Given the description of an element on the screen output the (x, y) to click on. 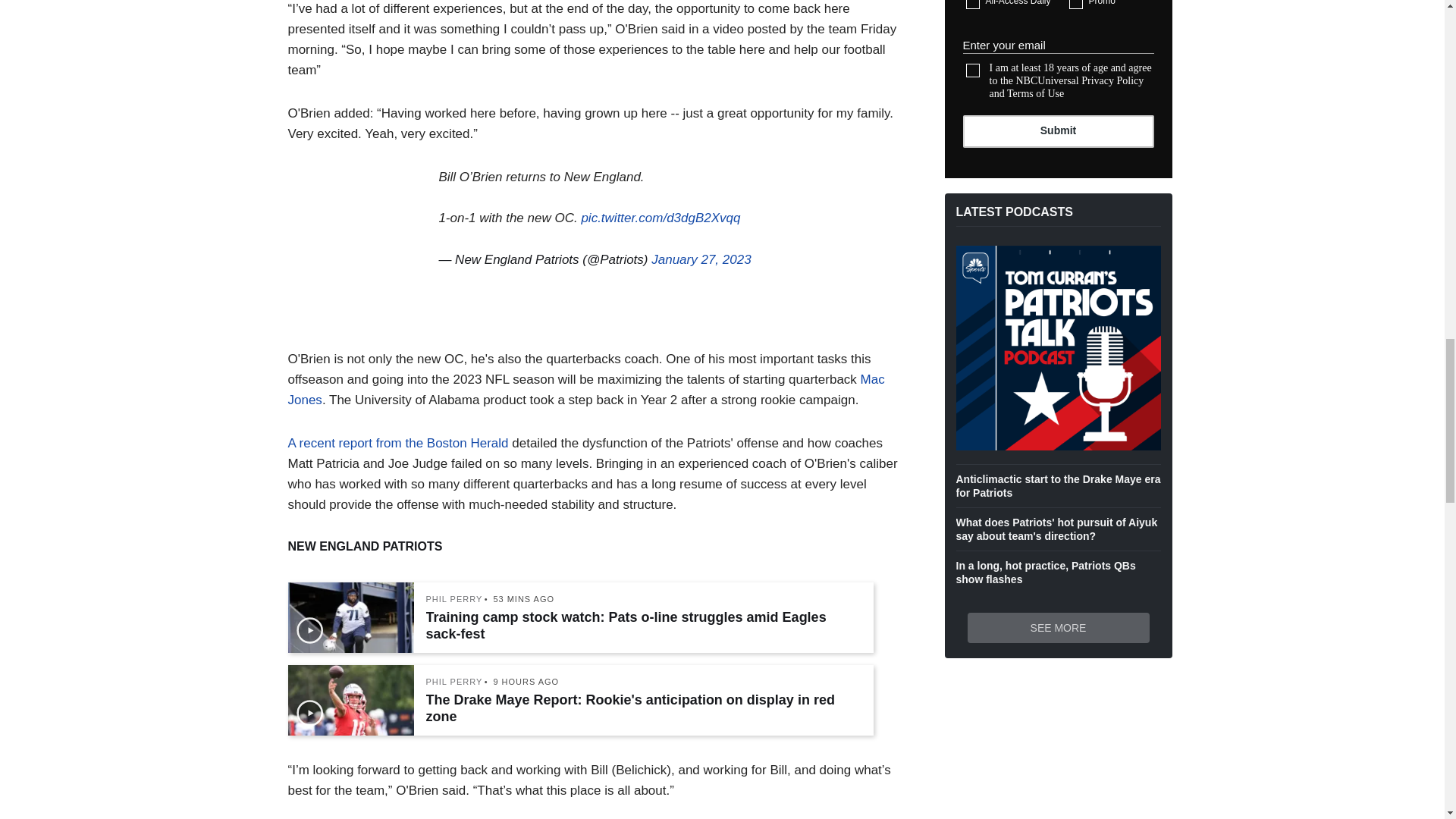
PHIL PERRY (454, 599)
January 27, 2023 (700, 259)
on (972, 69)
on (972, 4)
on (1075, 4)
A recent report from the Boston Herald (398, 442)
Mac Jones (586, 389)
PHIL PERRY (454, 681)
